Given the description of an element on the screen output the (x, y) to click on. 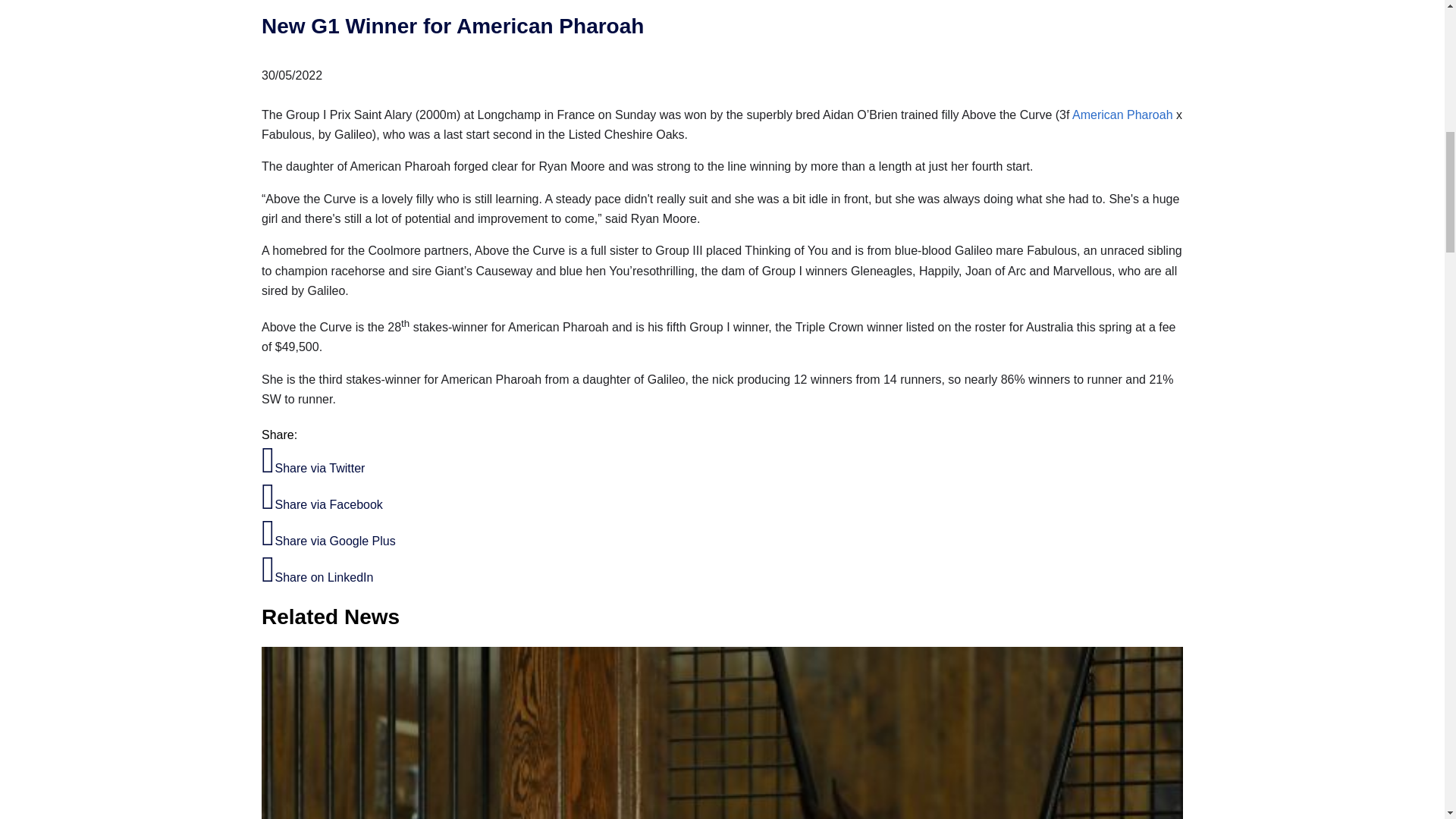
American Pharoah (1122, 114)
Share via Twitter (313, 468)
Share via Facebook (322, 504)
